Given the description of an element on the screen output the (x, y) to click on. 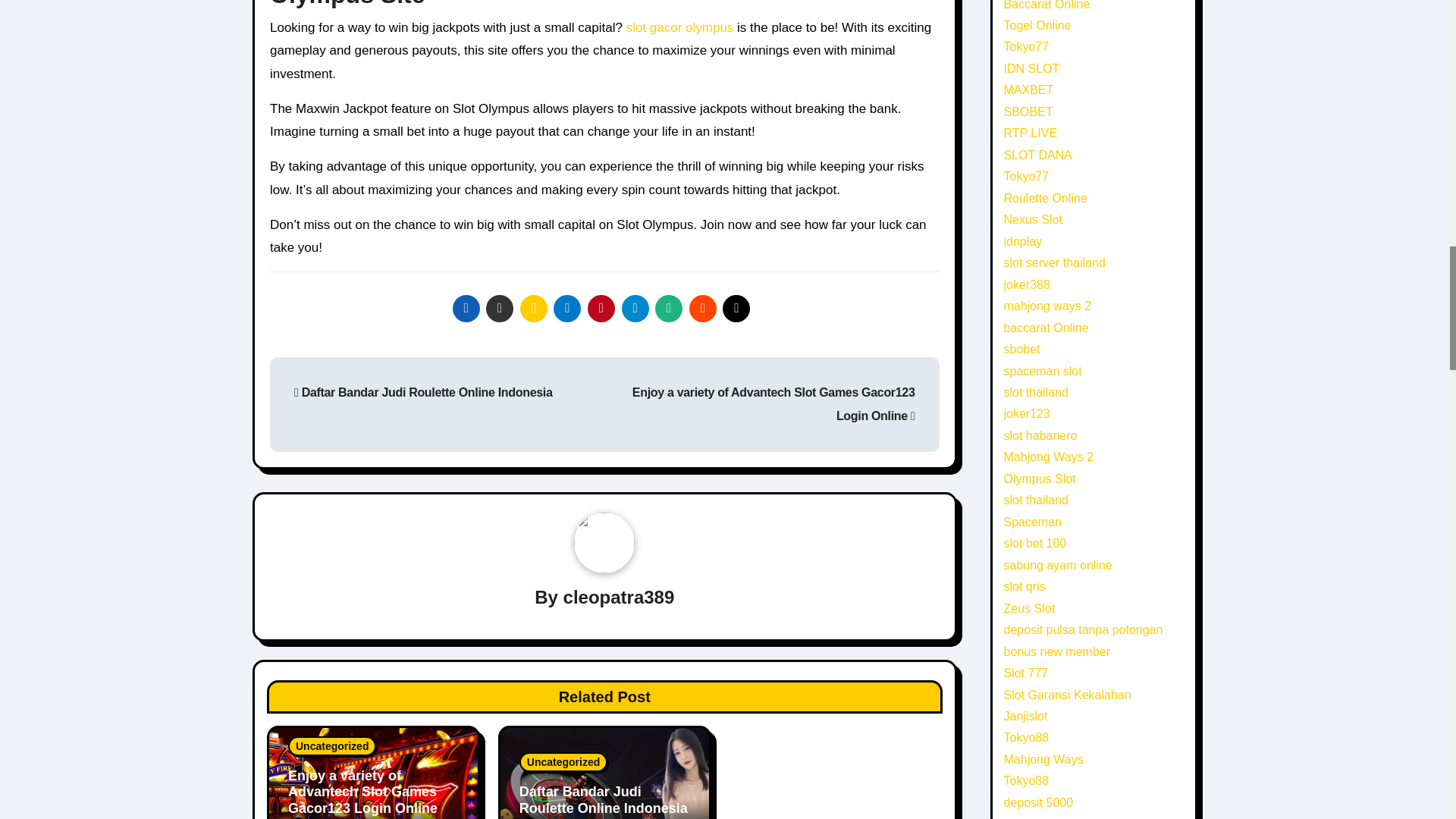
Permalink to: Daftar Bandar Judi Roulette Online Indonesia (603, 799)
